Given the description of an element on the screen output the (x, y) to click on. 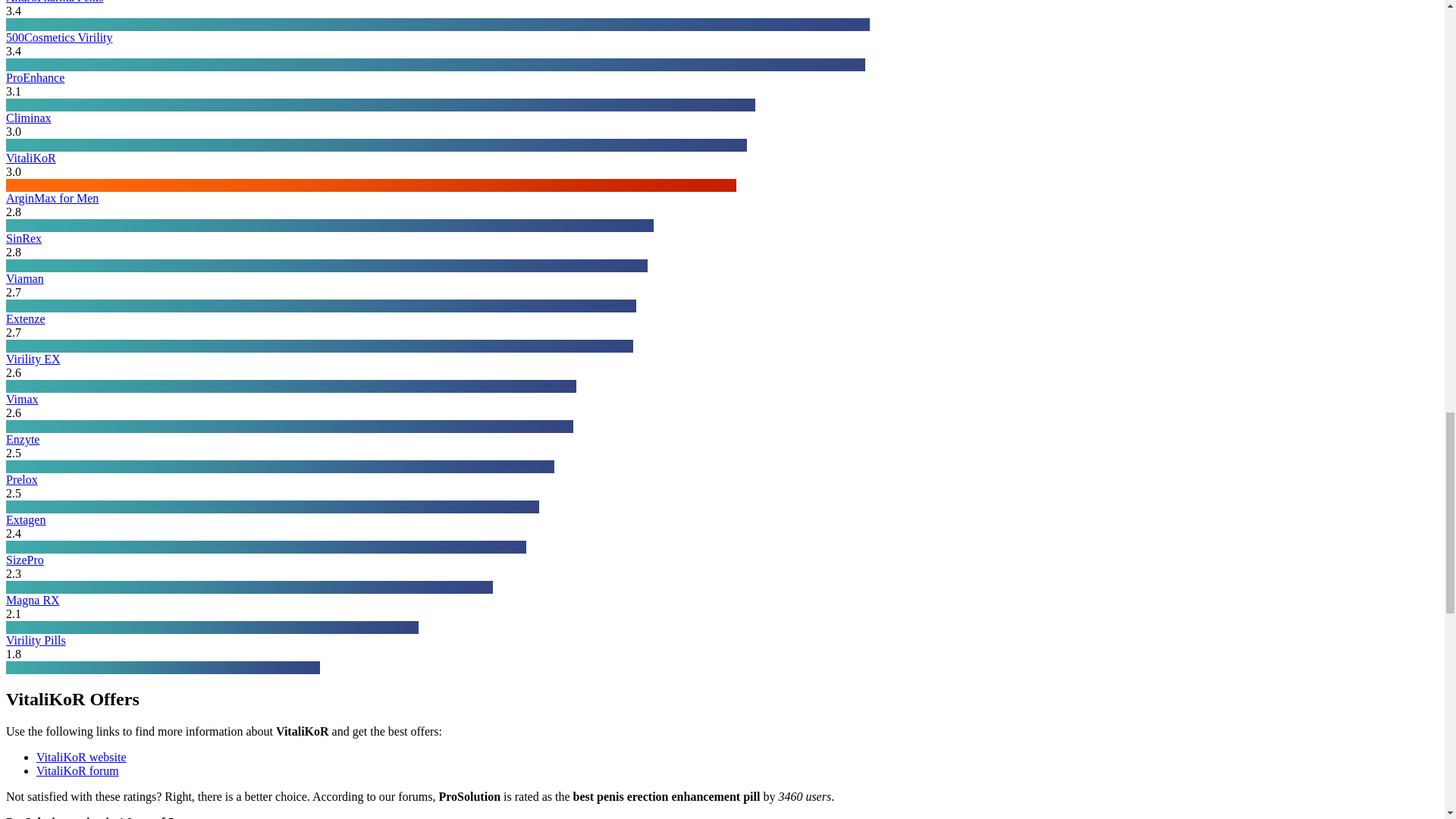
VitaliKoR (30, 157)
ProEnhance (34, 77)
SinRex (23, 237)
ArginMax for Men (52, 197)
Climinax (27, 117)
AndroPharma Penis (54, 2)
500Cosmetics Virility (59, 37)
